Given the description of an element on the screen output the (x, y) to click on. 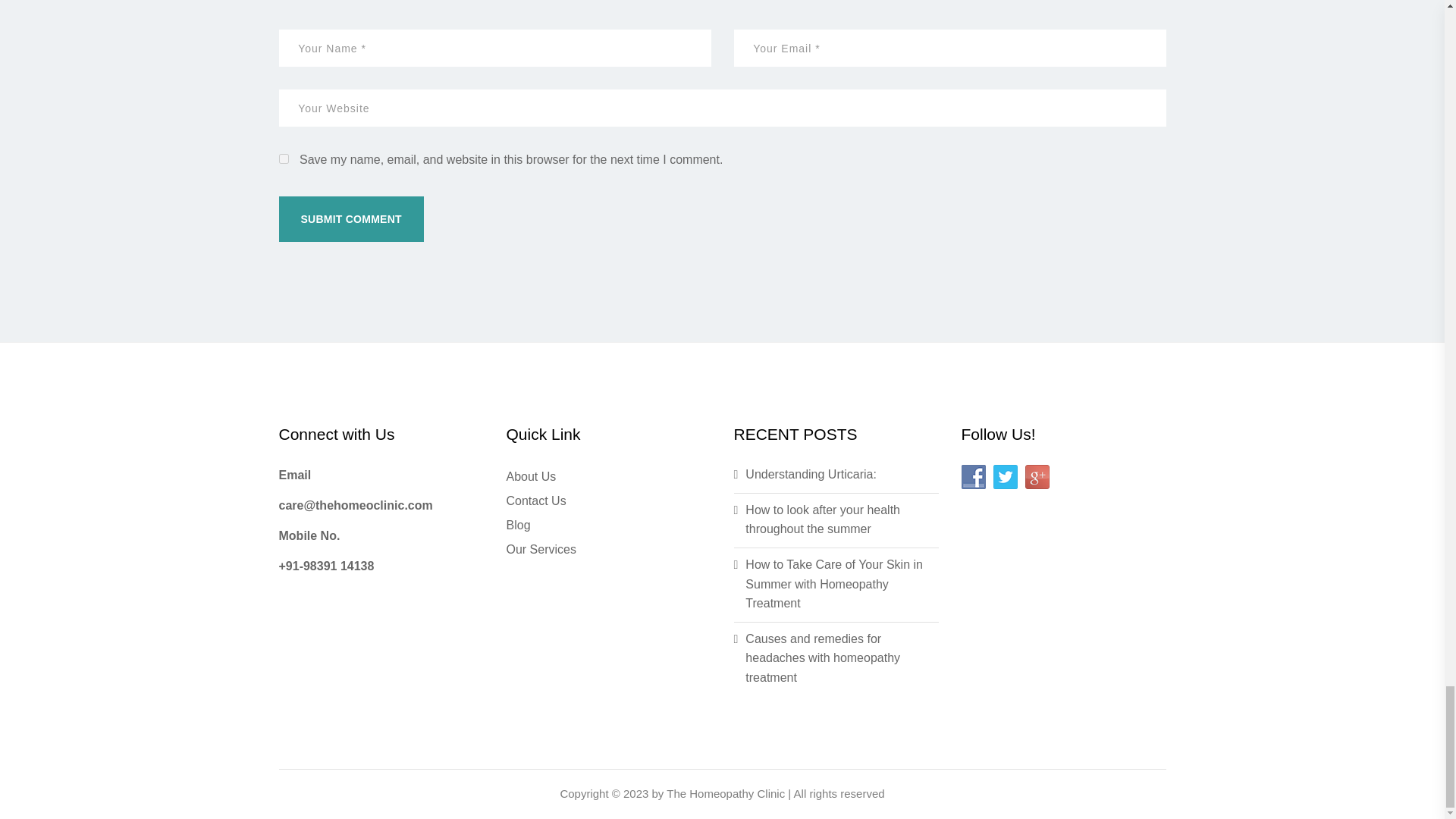
Follow Us on Twitter (1004, 476)
Submit Comment (351, 218)
Follow Us on Facebook (972, 476)
yes (283, 158)
